Given the description of an element on the screen output the (x, y) to click on. 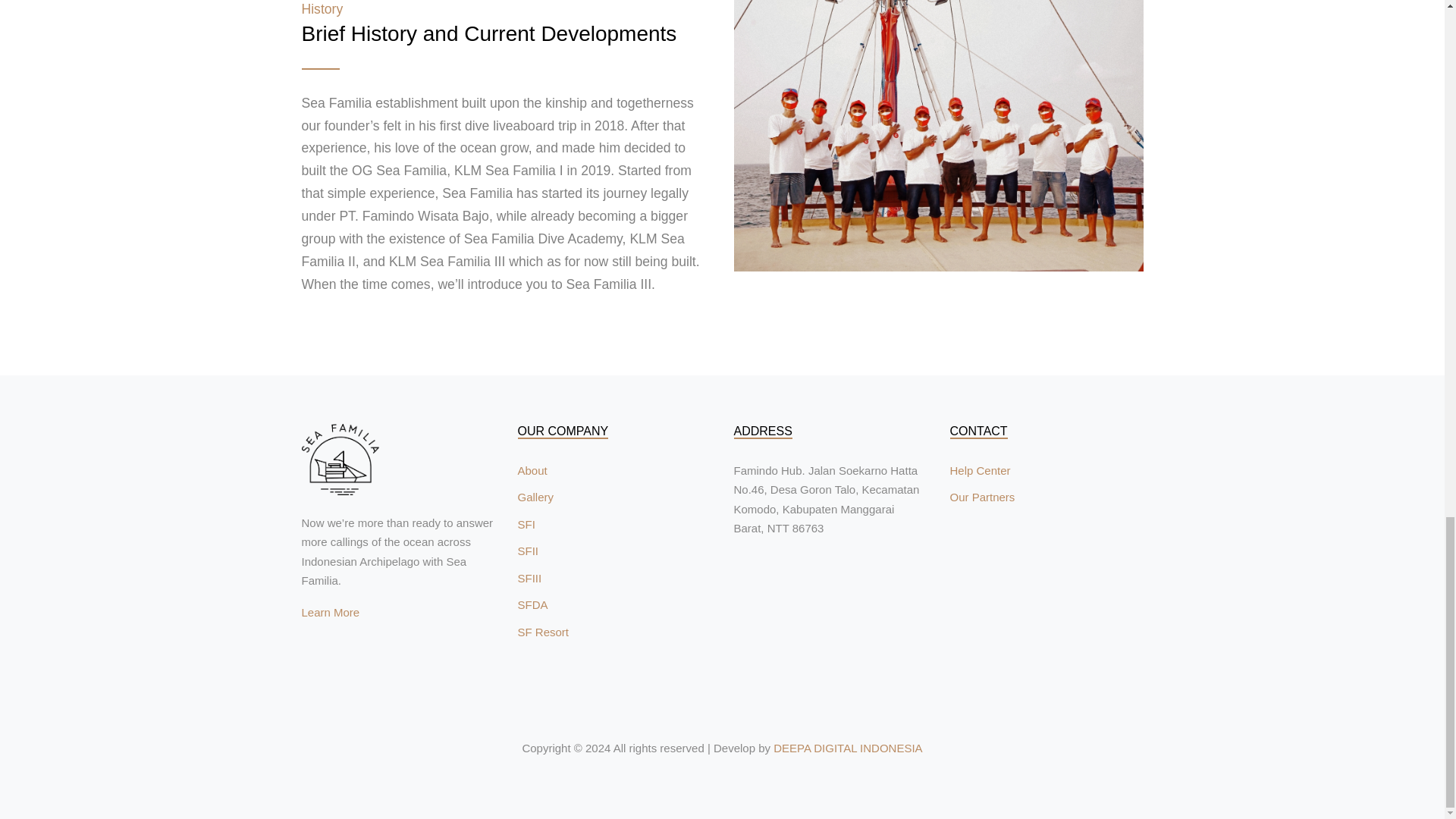
Help Center (979, 470)
SFIII (528, 577)
SFI (525, 523)
SFDA (531, 604)
SF Resort (542, 631)
Gallery (534, 496)
SFII (527, 550)
About (531, 470)
Our Partners (981, 496)
DEEPA DIGITAL INDONESIA (847, 748)
Learn More (330, 612)
